Given the description of an element on the screen output the (x, y) to click on. 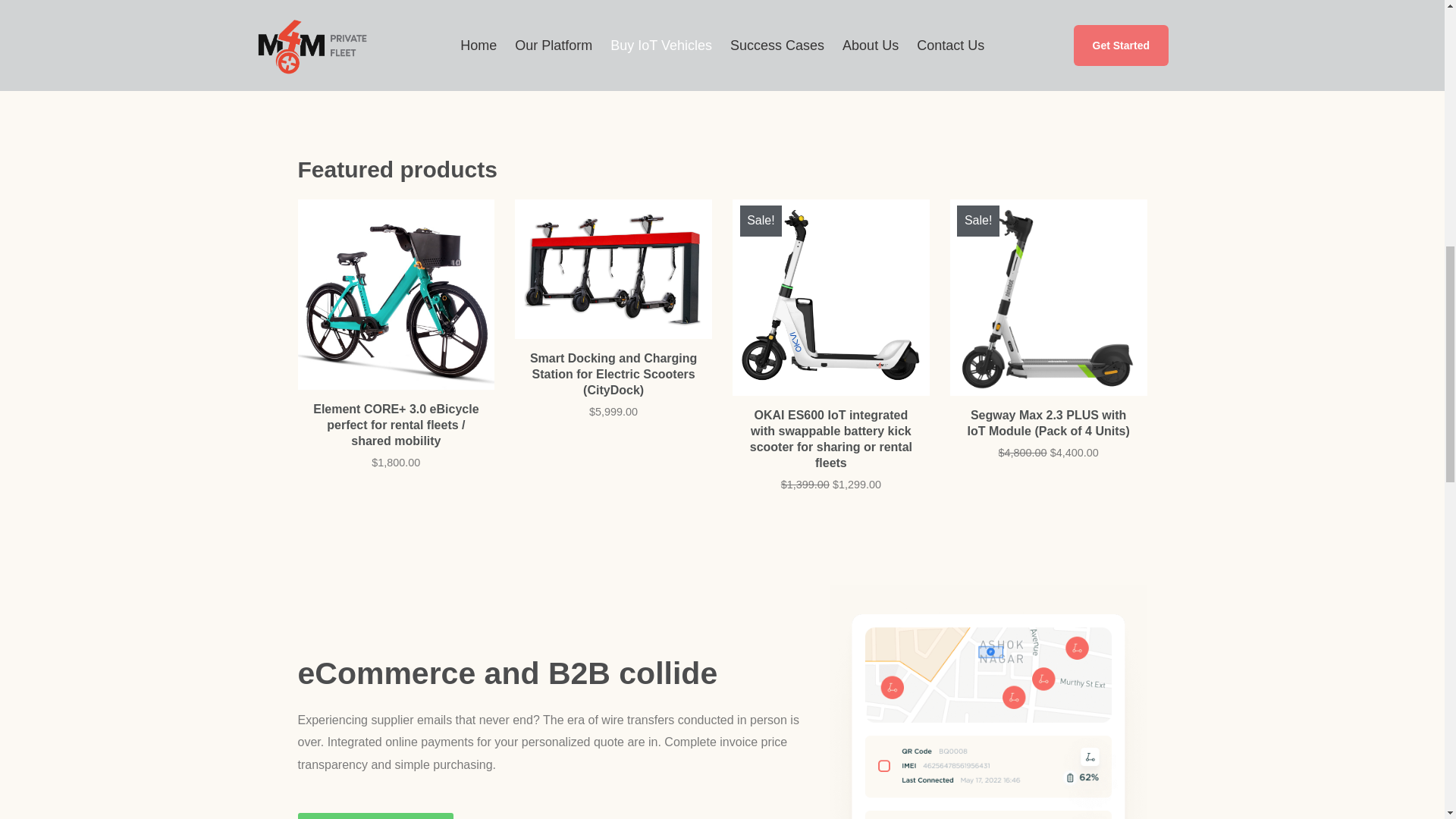
Request your quote (374, 816)
